Given the description of an element on the screen output the (x, y) to click on. 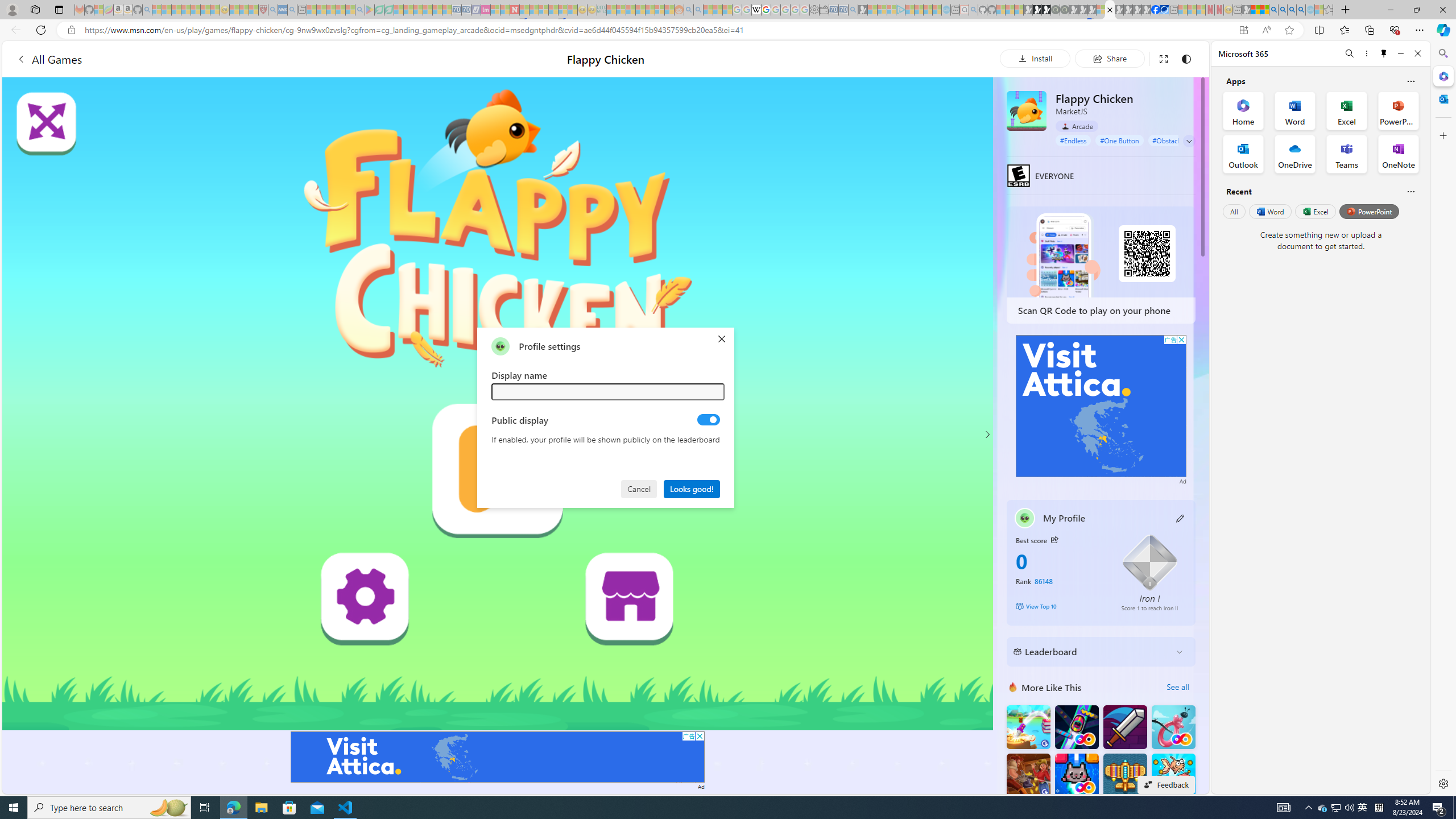
google - Search - Sleeping (359, 9)
Leaderboard (1091, 651)
PowerPoint (1369, 210)
All Games (212, 58)
AirNow.gov (1163, 9)
Class: text-input (608, 391)
